Given the description of an element on the screen output the (x, y) to click on. 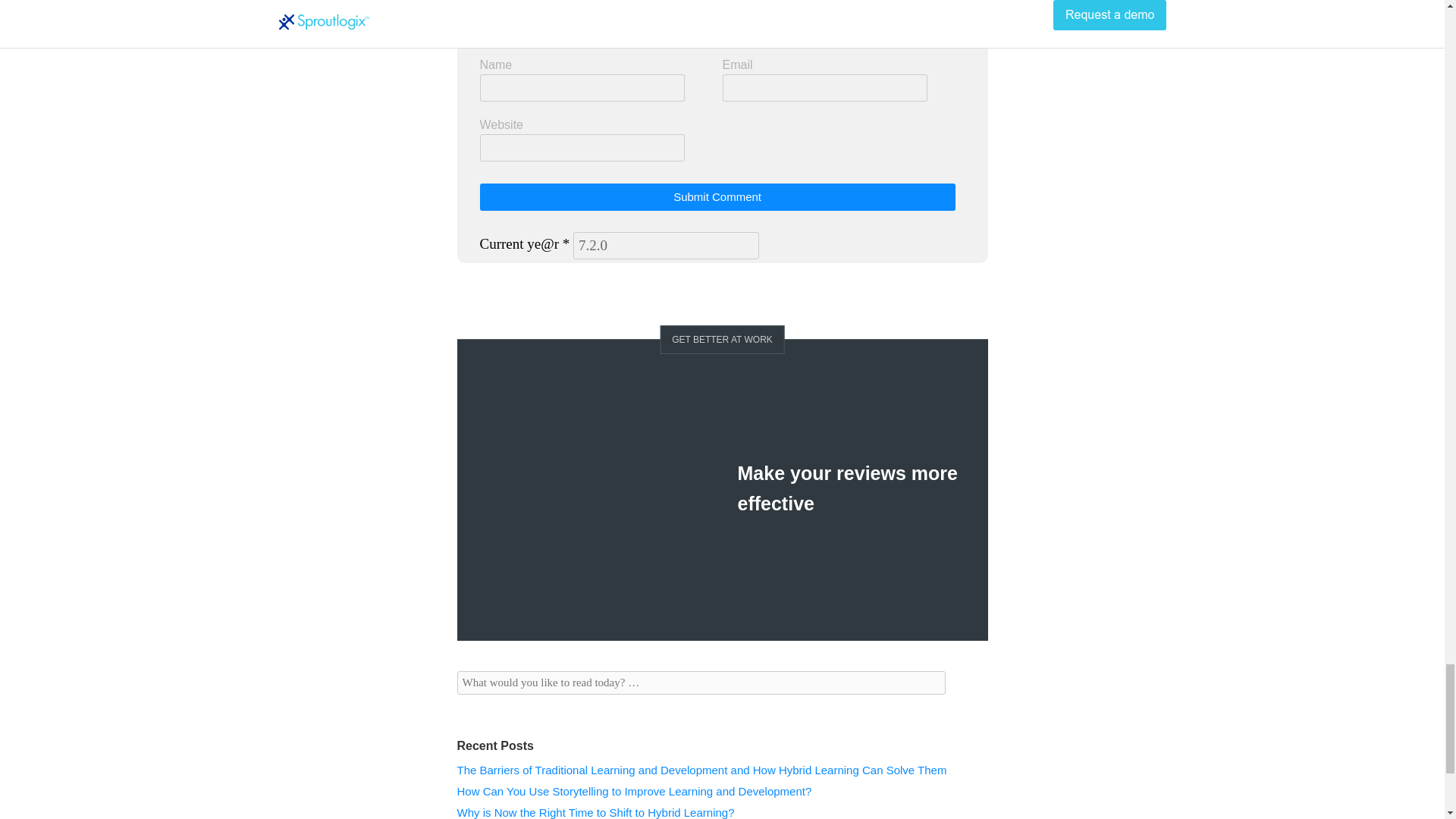
Submit Comment (717, 196)
Make your reviews more effective (846, 488)
7.2.0 (665, 245)
Why is Now the Right Time to Shift to Hybrid Learning? (595, 812)
Submit Comment (717, 196)
